Given the description of an element on the screen output the (x, y) to click on. 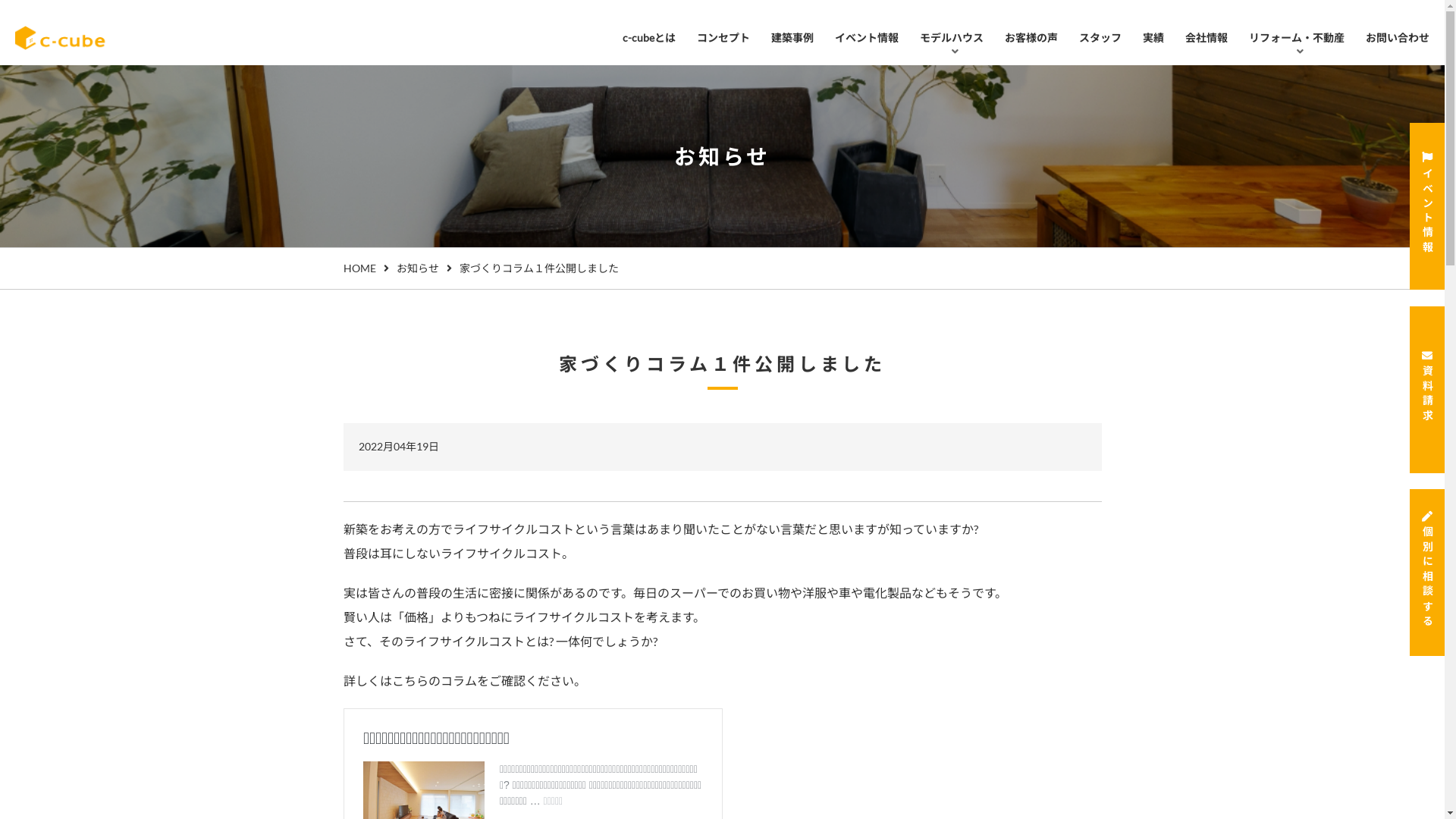
HOME Element type: text (358, 267)
